Given the description of an element on the screen output the (x, y) to click on. 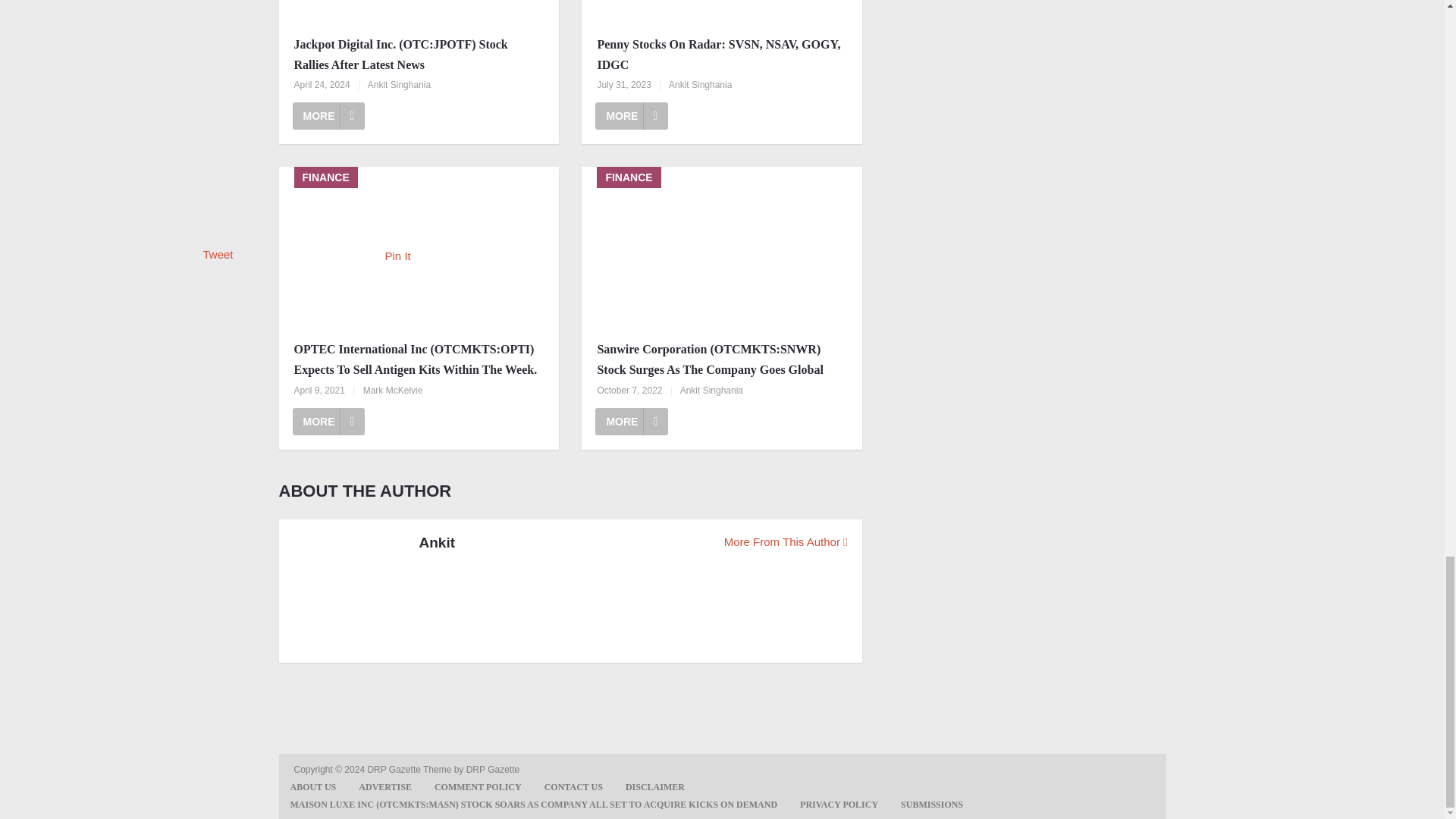
MORE (328, 420)
MORE (328, 115)
FINANCE (419, 248)
FINANCE (720, 12)
Posts by Ankit Singhania (700, 84)
MORE (631, 115)
Penny Stocks On Radar: SVSN, NSAV, GOGY, IDGC (720, 12)
MORE (631, 420)
Ankit Singhania (399, 84)
FINANCE (720, 248)
